Given the description of an element on the screen output the (x, y) to click on. 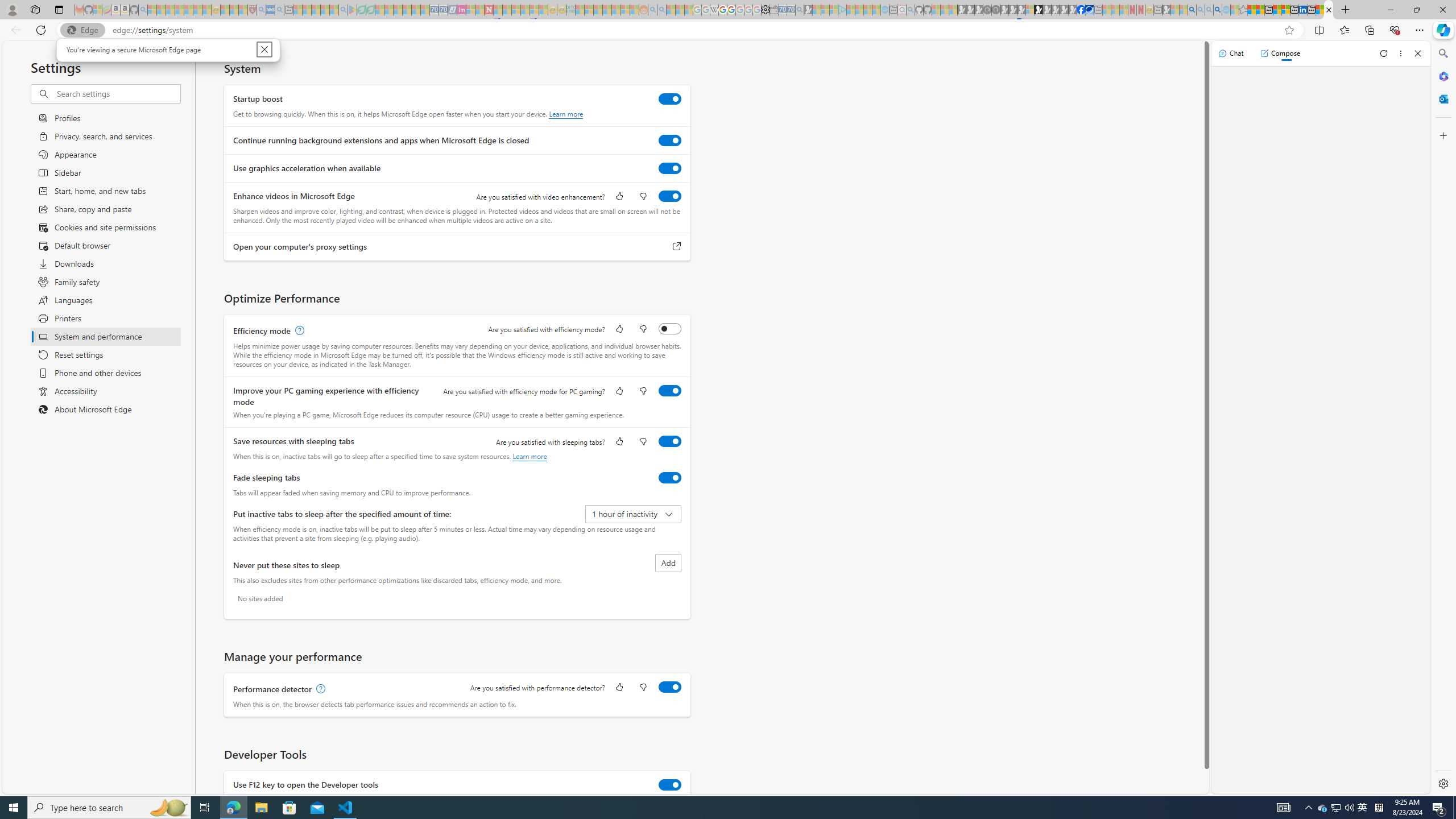
Efficiency mode, learn more (298, 330)
google - Search - Sleeping (342, 9)
